Given the description of an element on the screen output the (x, y) to click on. 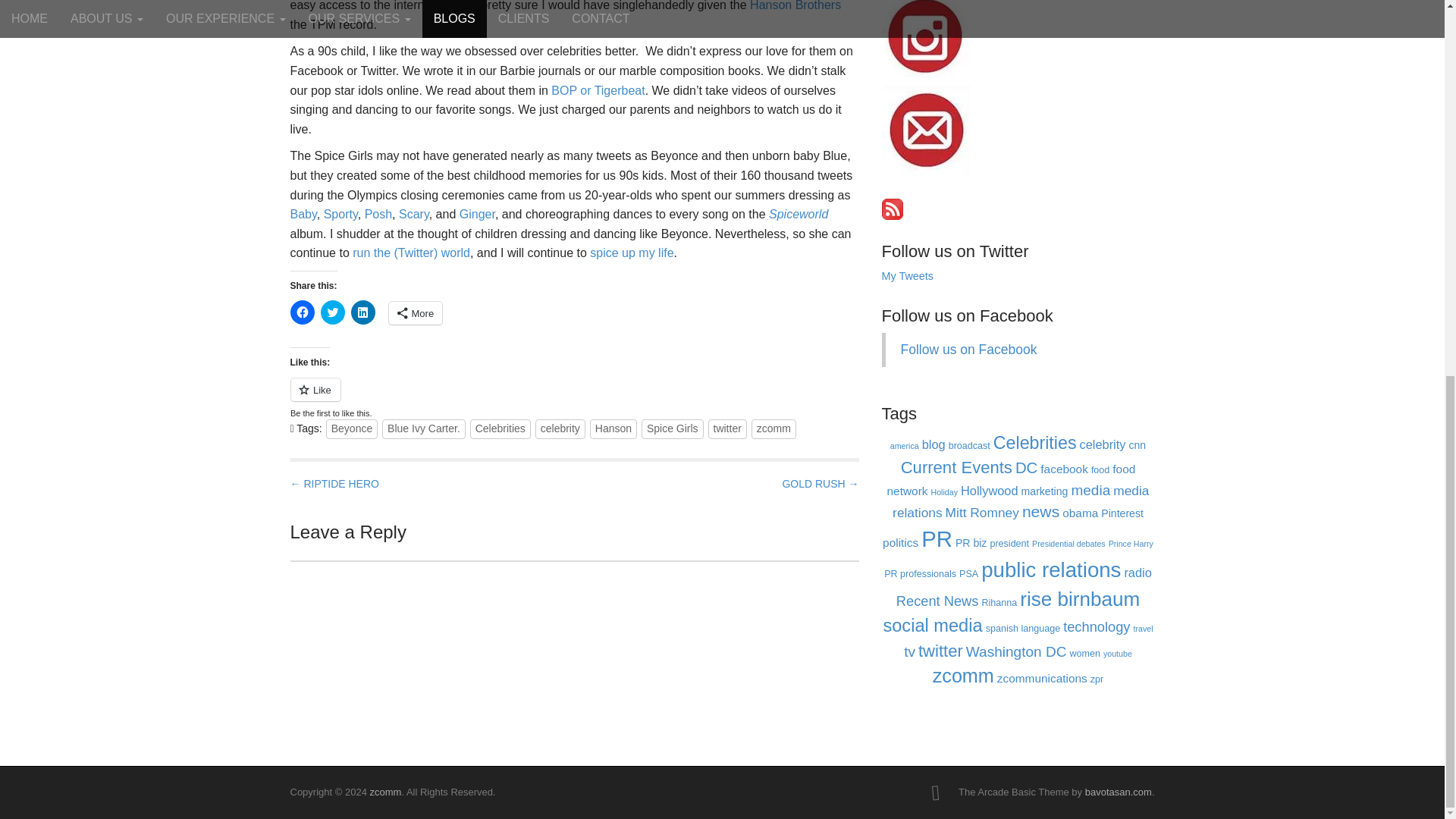
Subscribe to posts (891, 208)
Click to share on Twitter (331, 312)
Click to share on Facebook (301, 312)
Click to share on LinkedIn (362, 312)
Like or Reblog (574, 398)
